Given the description of an element on the screen output the (x, y) to click on. 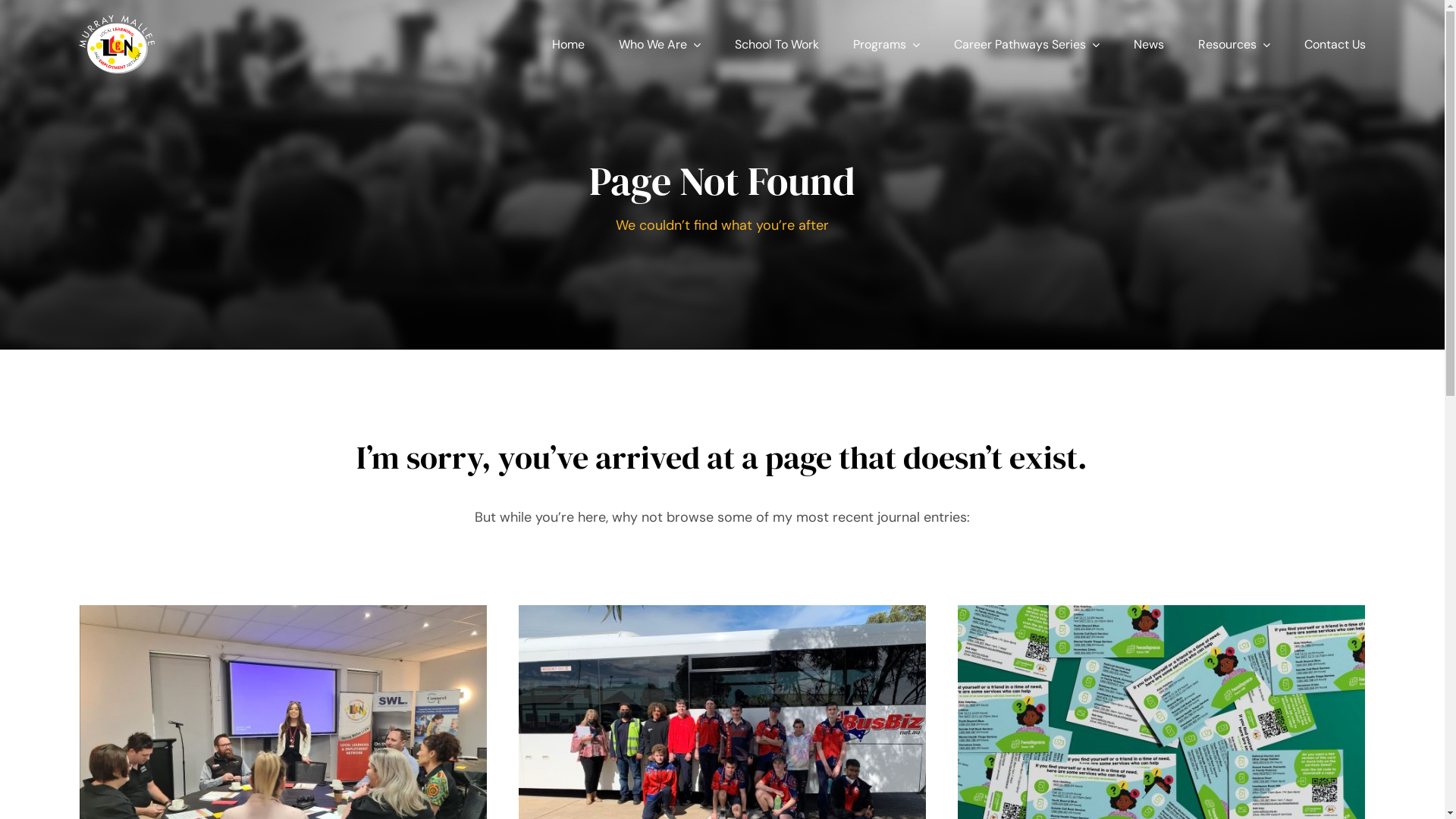
Programs Element type: text (886, 34)
Contact Us Element type: text (1334, 34)
Who We Are Element type: text (659, 34)
School To Work Element type: text (776, 34)
Career Pathways Series Element type: text (1026, 34)
Resources Element type: text (1234, 34)
Home Element type: text (568, 34)
News Element type: text (1148, 34)
